Given the description of an element on the screen output the (x, y) to click on. 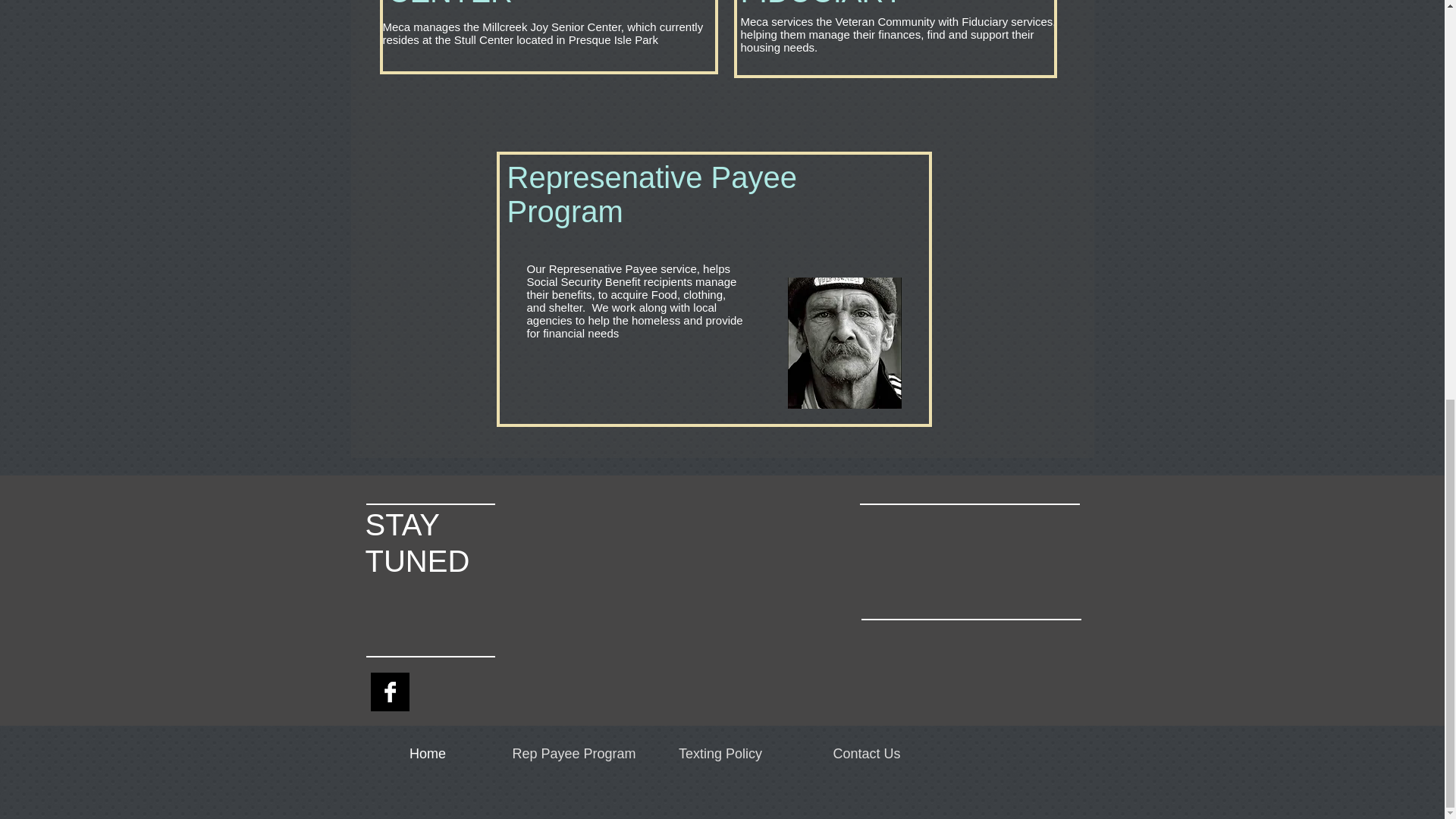
Contact Us (866, 753)
Texting Policy (720, 753)
Rep Payee Program (573, 753)
Home (427, 753)
